Given the description of an element on the screen output the (x, y) to click on. 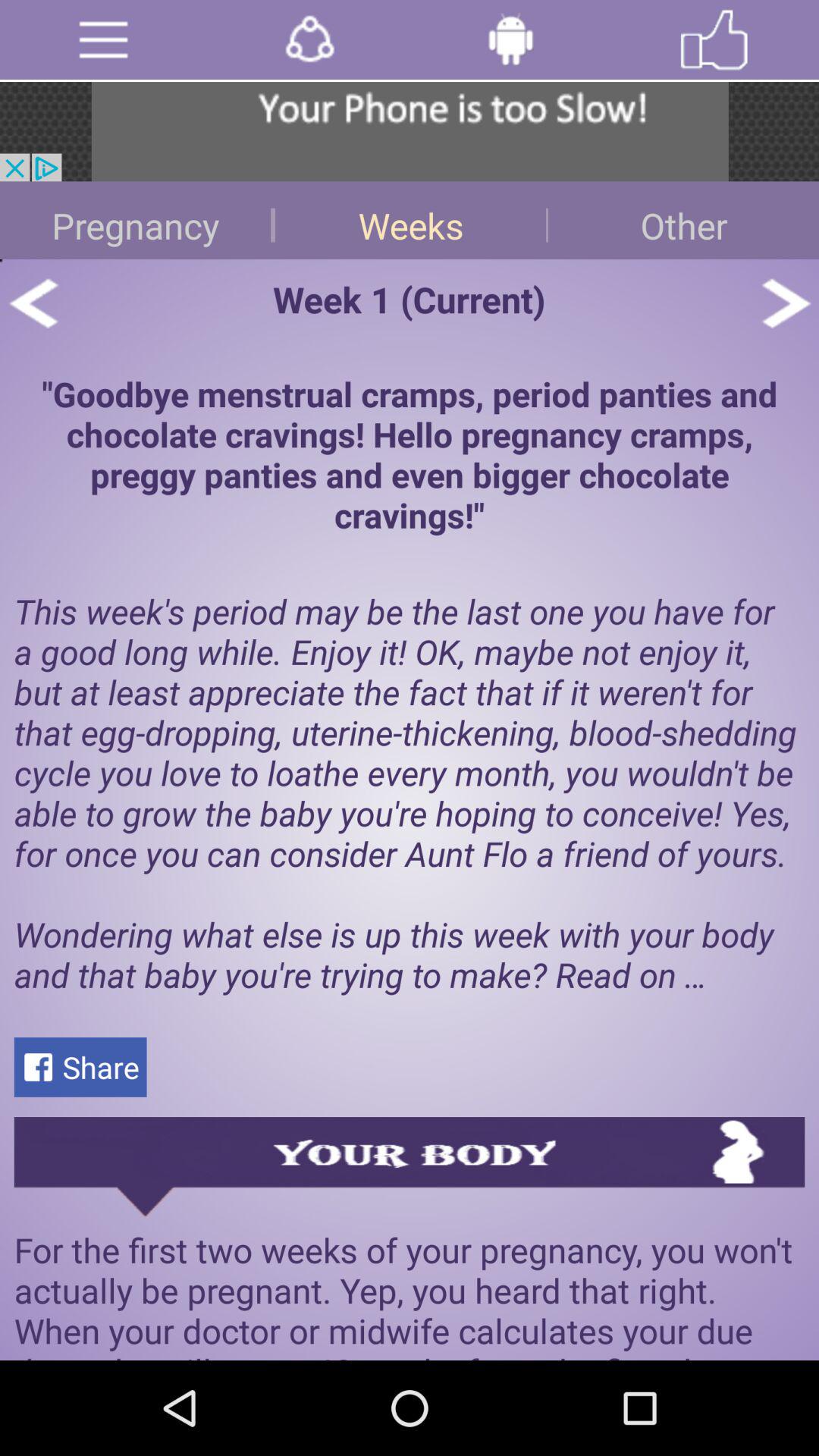
go to next article (785, 302)
